Given the description of an element on the screen output the (x, y) to click on. 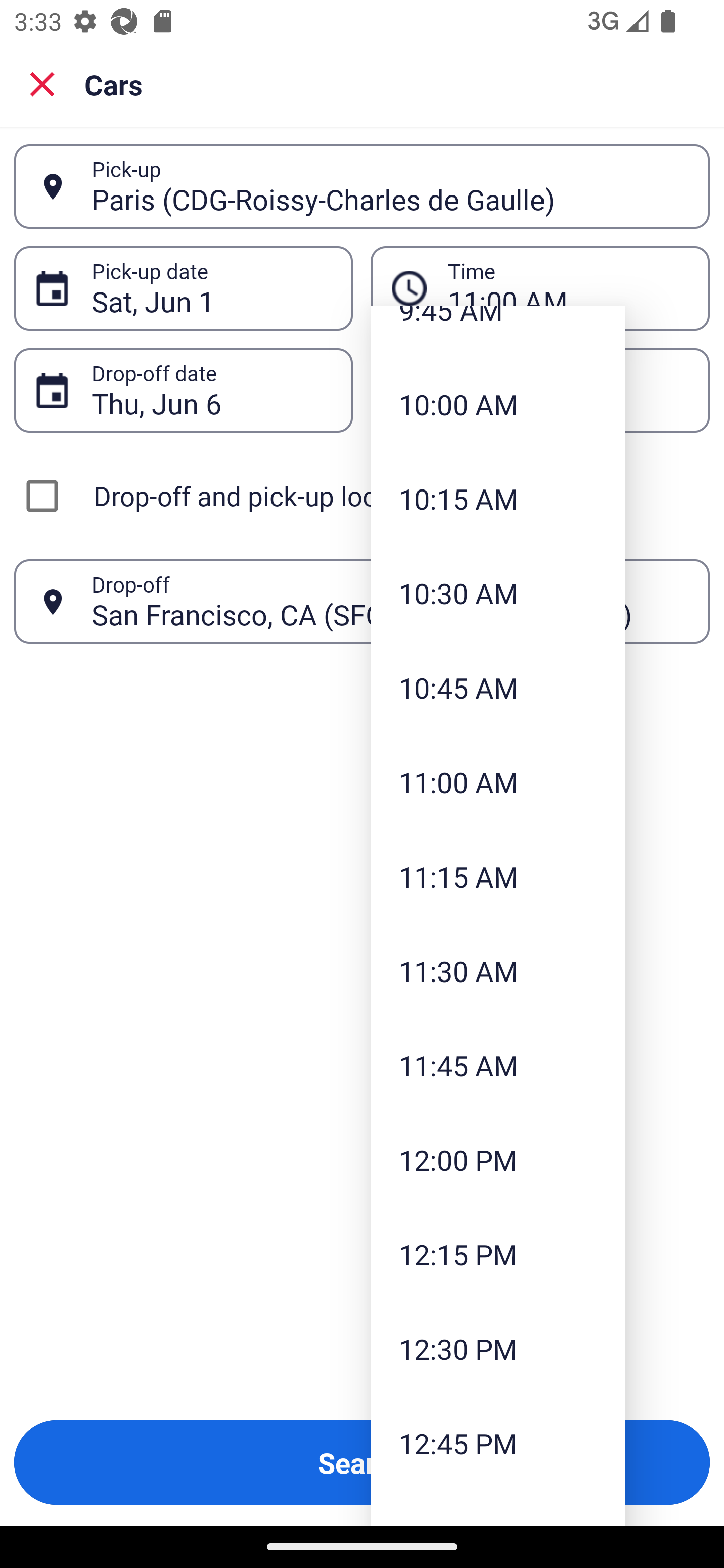
9:45 AM (497, 331)
10:00 AM (497, 404)
10:15 AM (497, 498)
10:30 AM (497, 592)
10:45 AM (497, 687)
11:00 AM (497, 782)
11:15 AM (497, 876)
11:30 AM (497, 970)
11:45 AM (497, 1065)
12:00 PM (497, 1160)
12:15 PM (497, 1254)
12:30 PM (497, 1348)
12:45 PM (497, 1443)
